Given the description of an element on the screen output the (x, y) to click on. 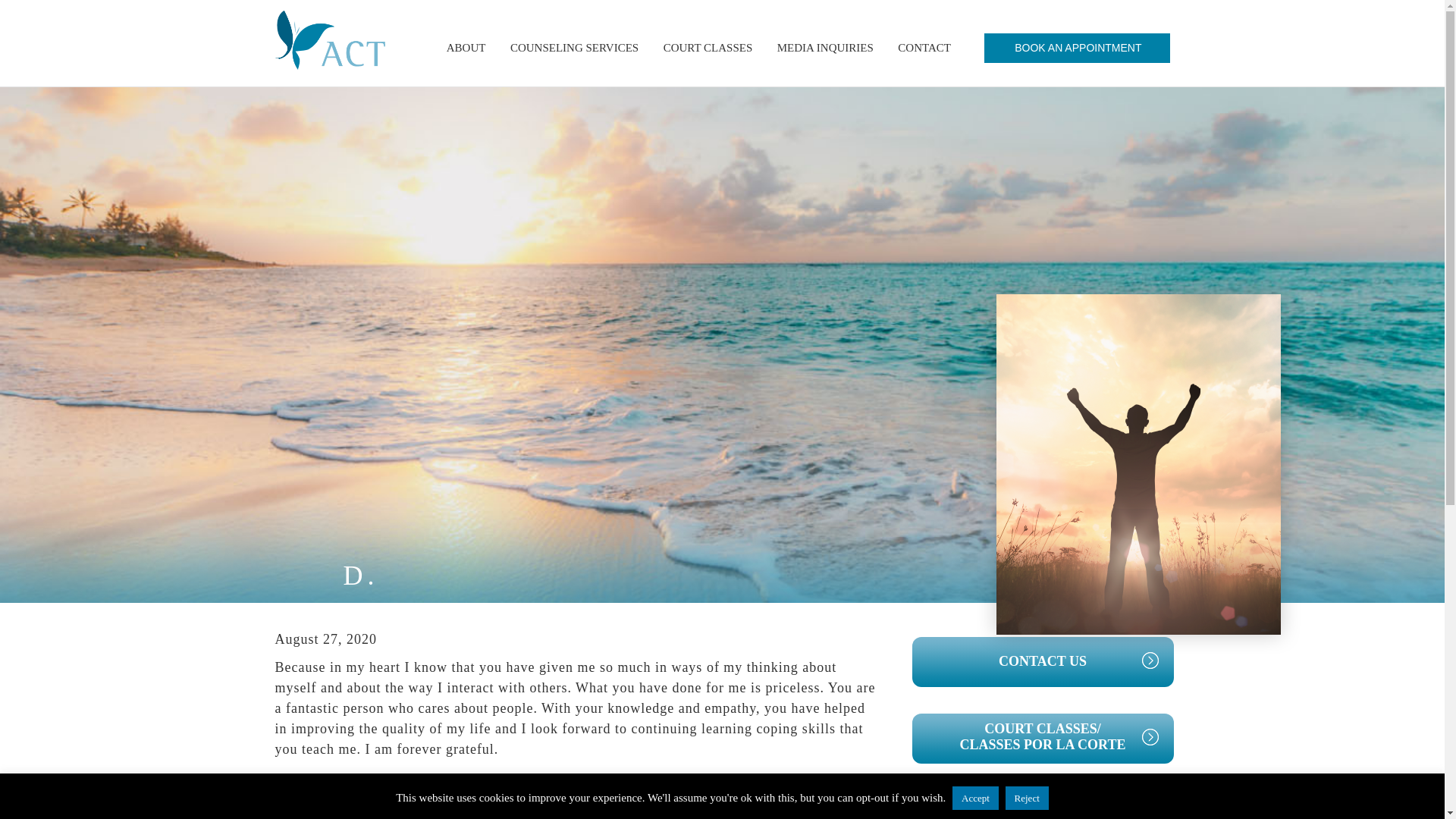
CONTACT (923, 47)
COUNSELING SERVICES (574, 47)
COURT CLASSES (707, 47)
MEDIA INQUIRIES (825, 47)
ABOUT (465, 47)
BOOK AN APPOINTMENT (1077, 48)
CONTACT US (1042, 662)
TESTIMONIALS (1042, 804)
